Given the description of an element on the screen output the (x, y) to click on. 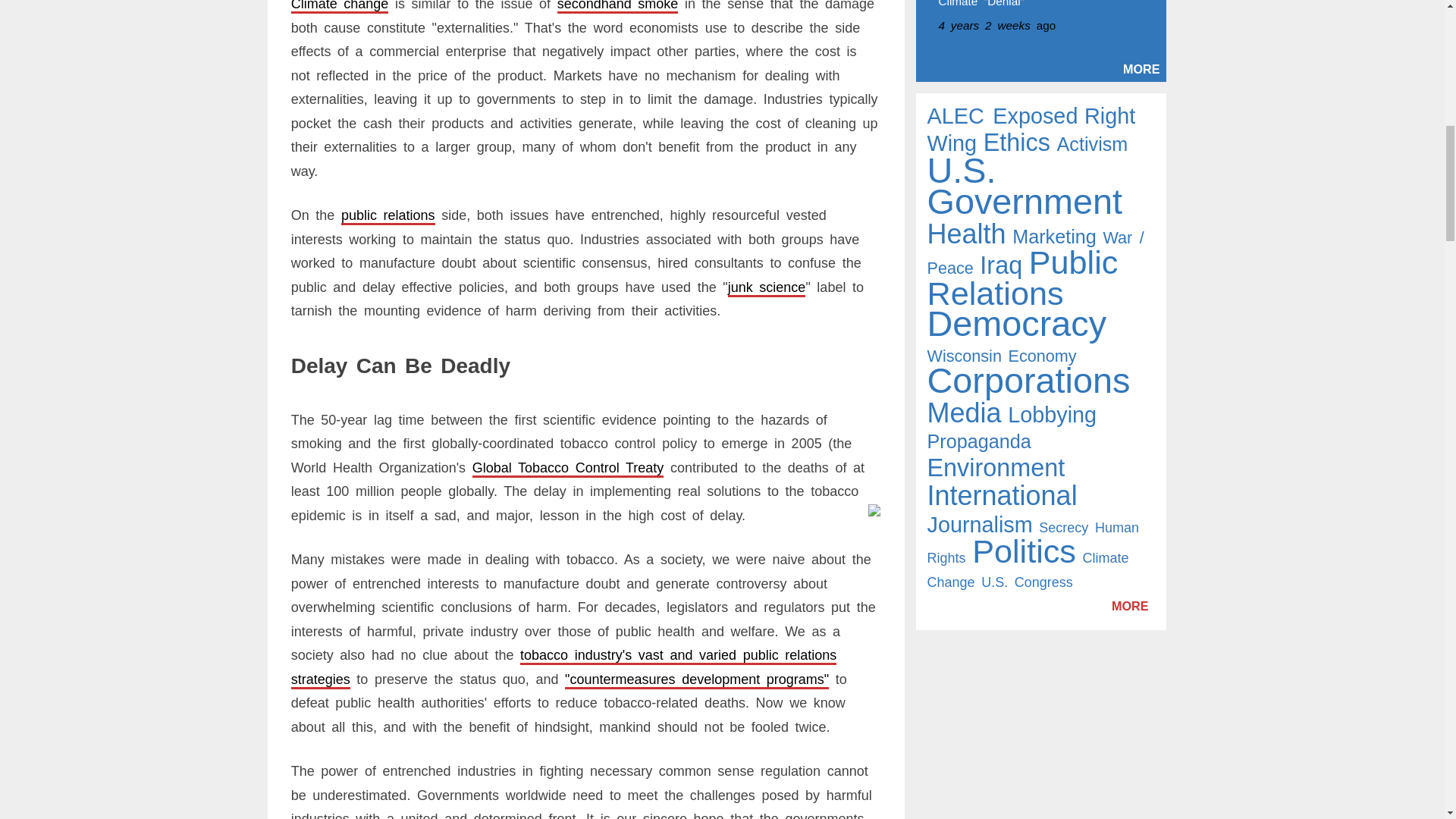
Global Tobacco Control Treaty (567, 467)
secondhand smoke (617, 5)
public relations (387, 215)
"countermeasures development programs" (696, 679)
Climate change (339, 5)
junk science (767, 287)
